Given the description of an element on the screen output the (x, y) to click on. 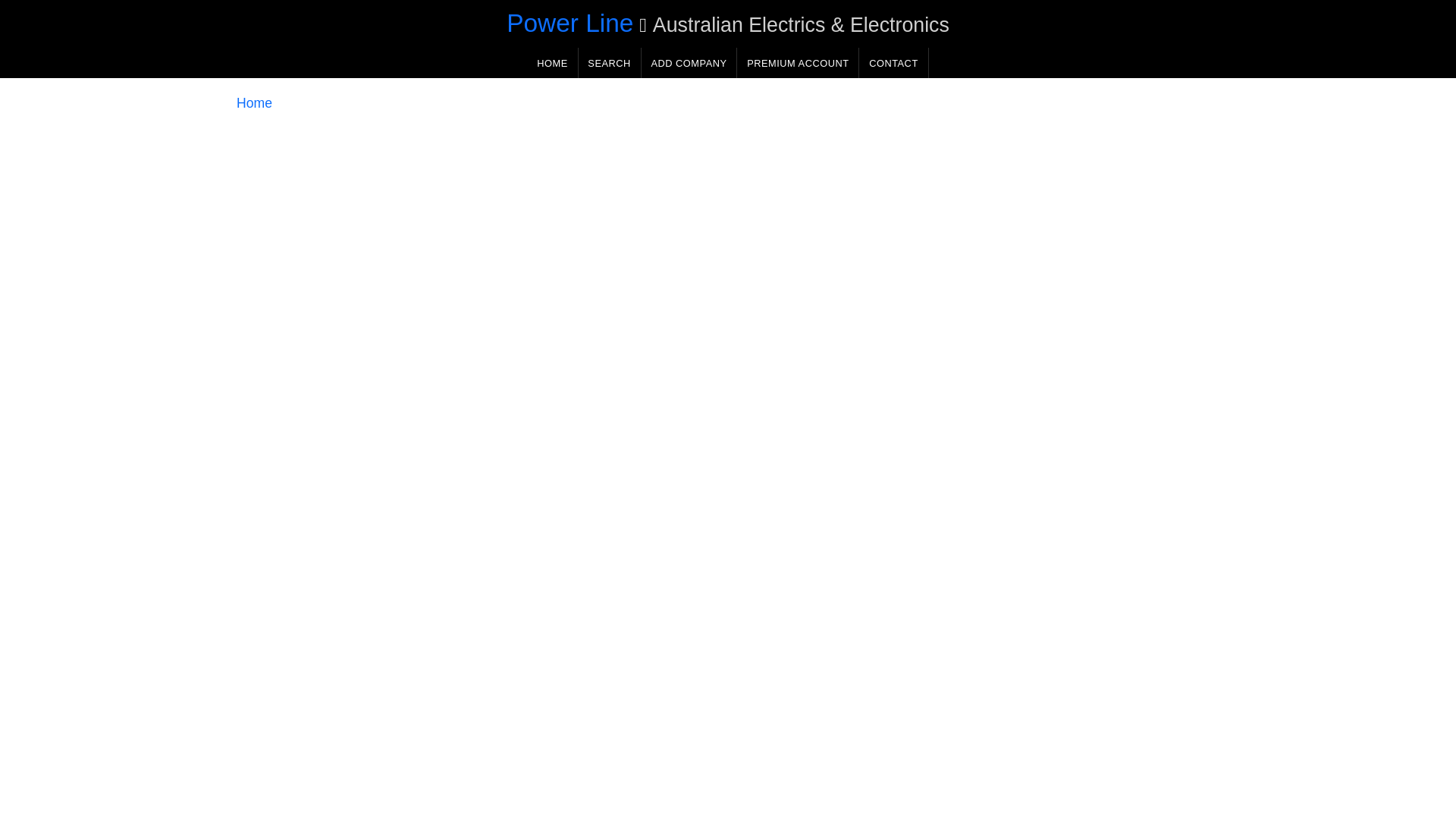
Power Line (569, 22)
Search in this webseite. (609, 62)
PREMIUM ACCOUNT (797, 62)
SEARCH (609, 62)
Add a new company (689, 62)
HOME (551, 62)
Home (253, 102)
Premium account (797, 62)
CONTACT (893, 62)
ADD COMPANY (689, 62)
